Given the description of an element on the screen output the (x, y) to click on. 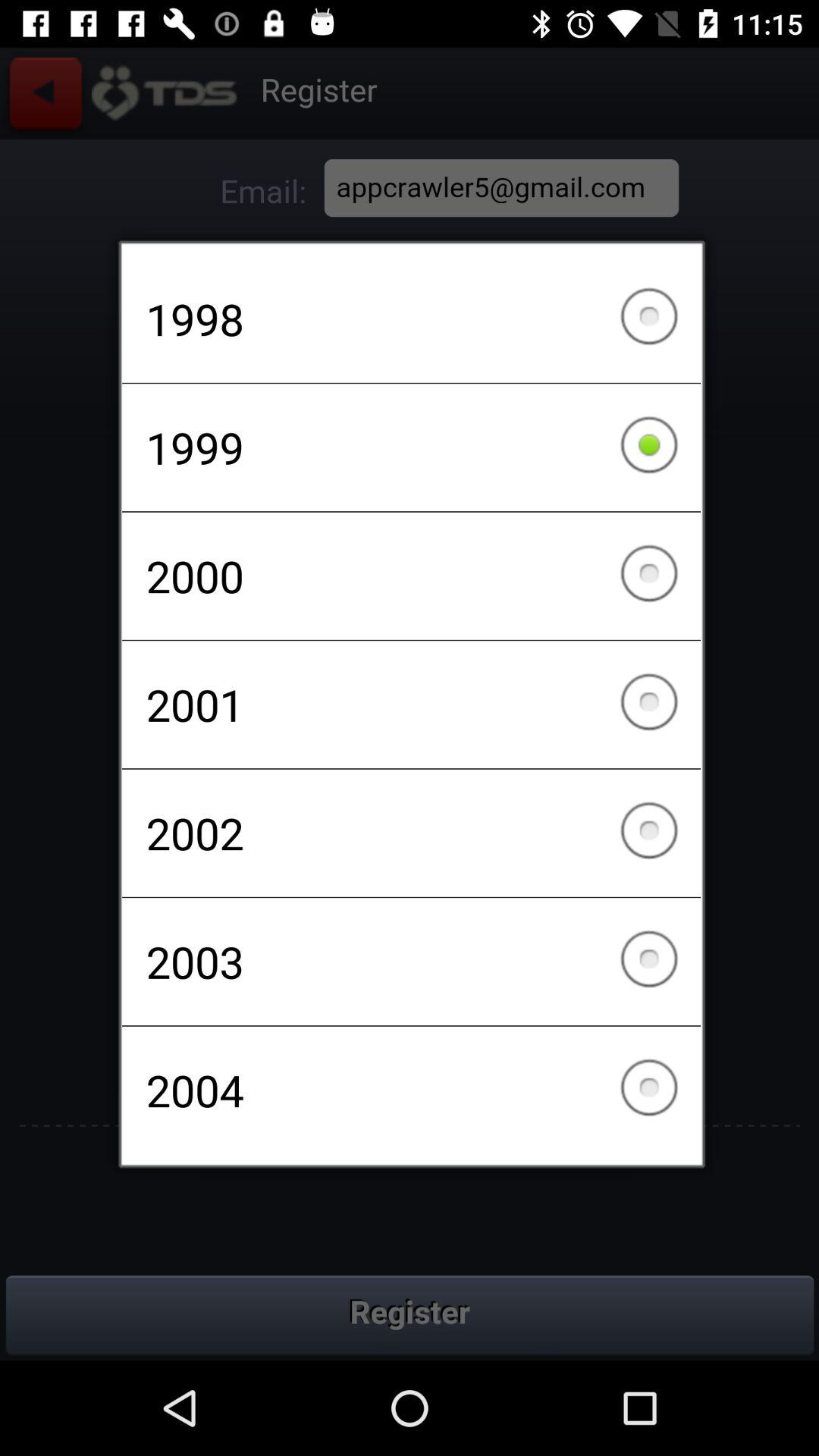
press the 1999 item (411, 447)
